Given the description of an element on the screen output the (x, y) to click on. 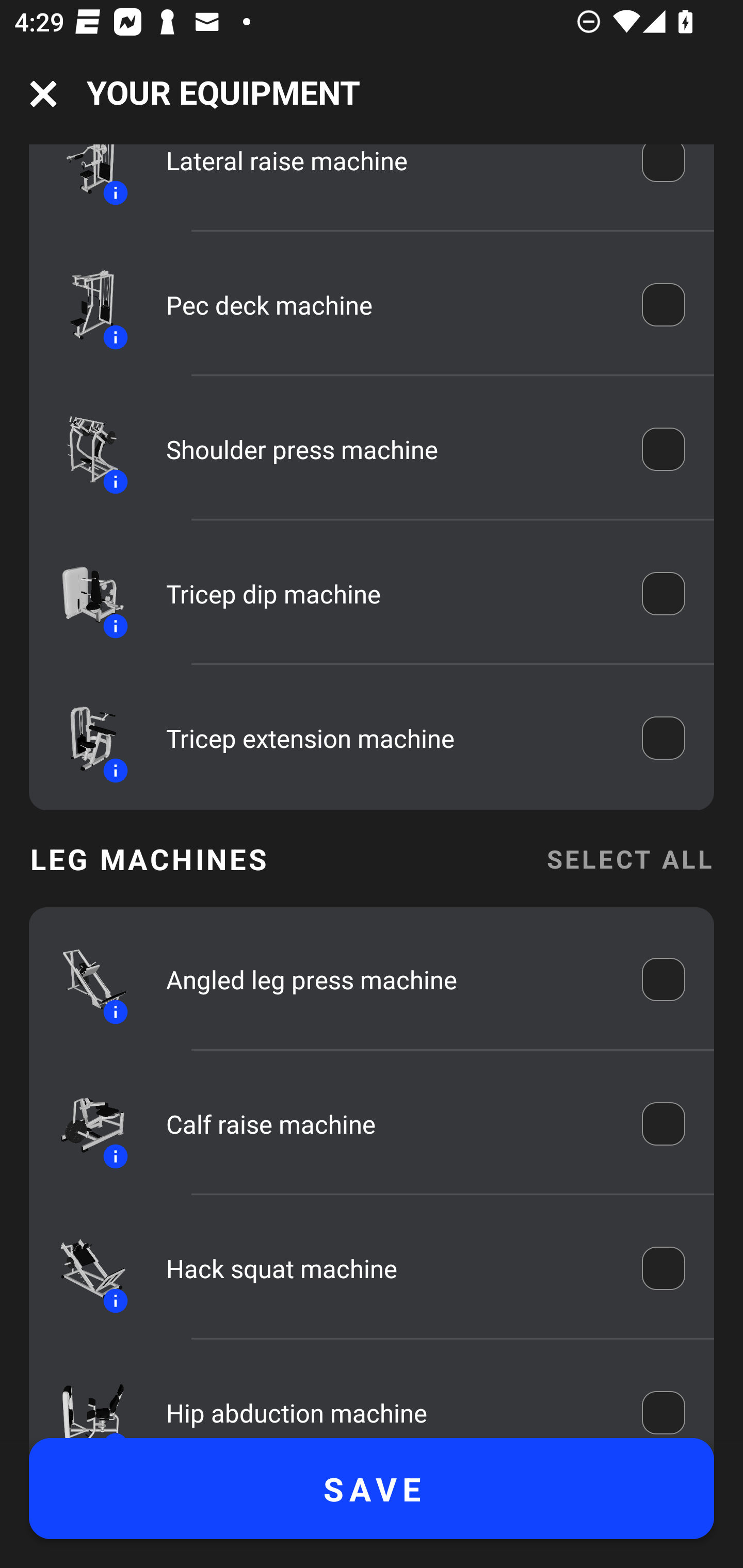
Navigation icon (43, 93)
Equipment icon Information icon (82, 179)
Lateral raise machine (389, 173)
Equipment icon Information icon (82, 304)
Pec deck machine (389, 304)
Equipment icon Information icon (82, 449)
Shoulder press machine (389, 449)
Equipment icon Information icon (82, 593)
Tricep dip machine (389, 593)
Equipment icon Information icon (82, 737)
Tricep extension machine (389, 737)
SELECT ALL (629, 858)
Equipment icon Information icon (82, 979)
Angled leg press machine (389, 979)
Equipment icon Information icon (82, 1123)
Calf raise machine (389, 1123)
Equipment icon Information icon (82, 1267)
Hack squat machine (389, 1268)
Equipment icon Information icon (82, 1397)
Hip abduction machine (389, 1402)
SAVE (371, 1488)
